Given the description of an element on the screen output the (x, y) to click on. 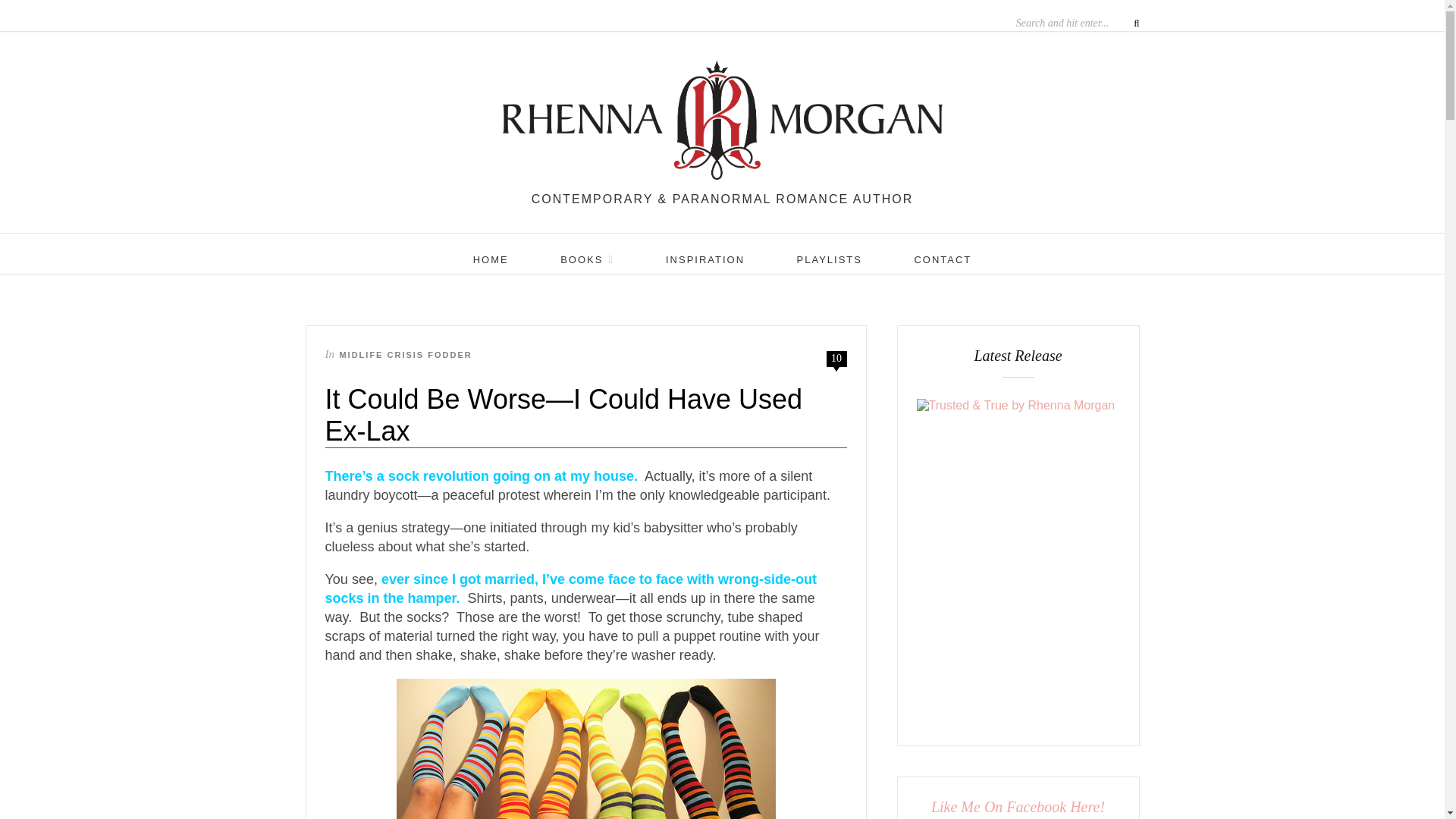
MIDLIFE CRISIS FODDER (405, 354)
10 (836, 357)
CONTACT (942, 259)
INSPIRATION (704, 259)
PLAYLISTS (828, 259)
BOOKS (586, 259)
